Given the description of an element on the screen output the (x, y) to click on. 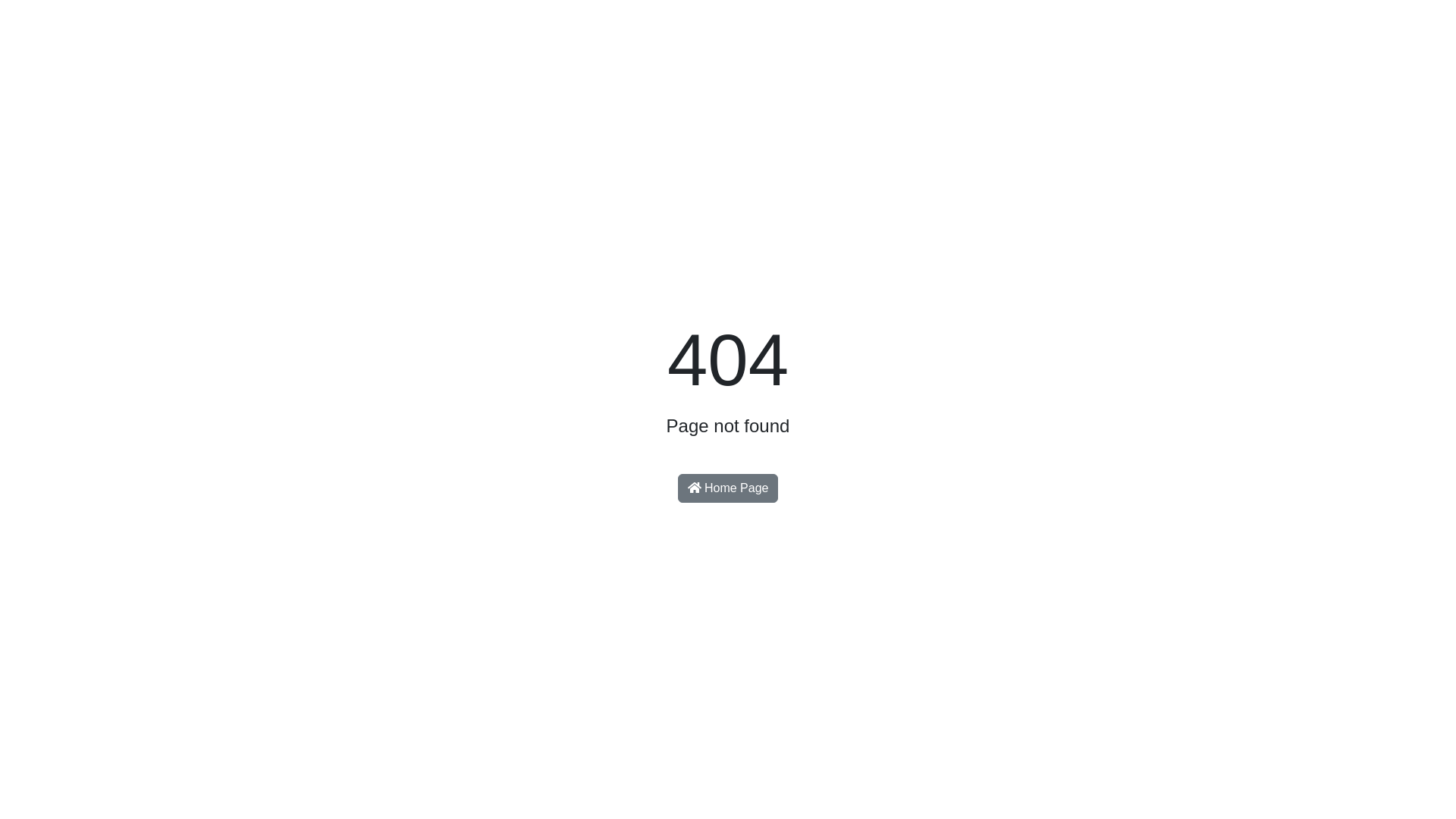
Home Page Element type: text (727, 487)
